Given the description of an element on the screen output the (x, y) to click on. 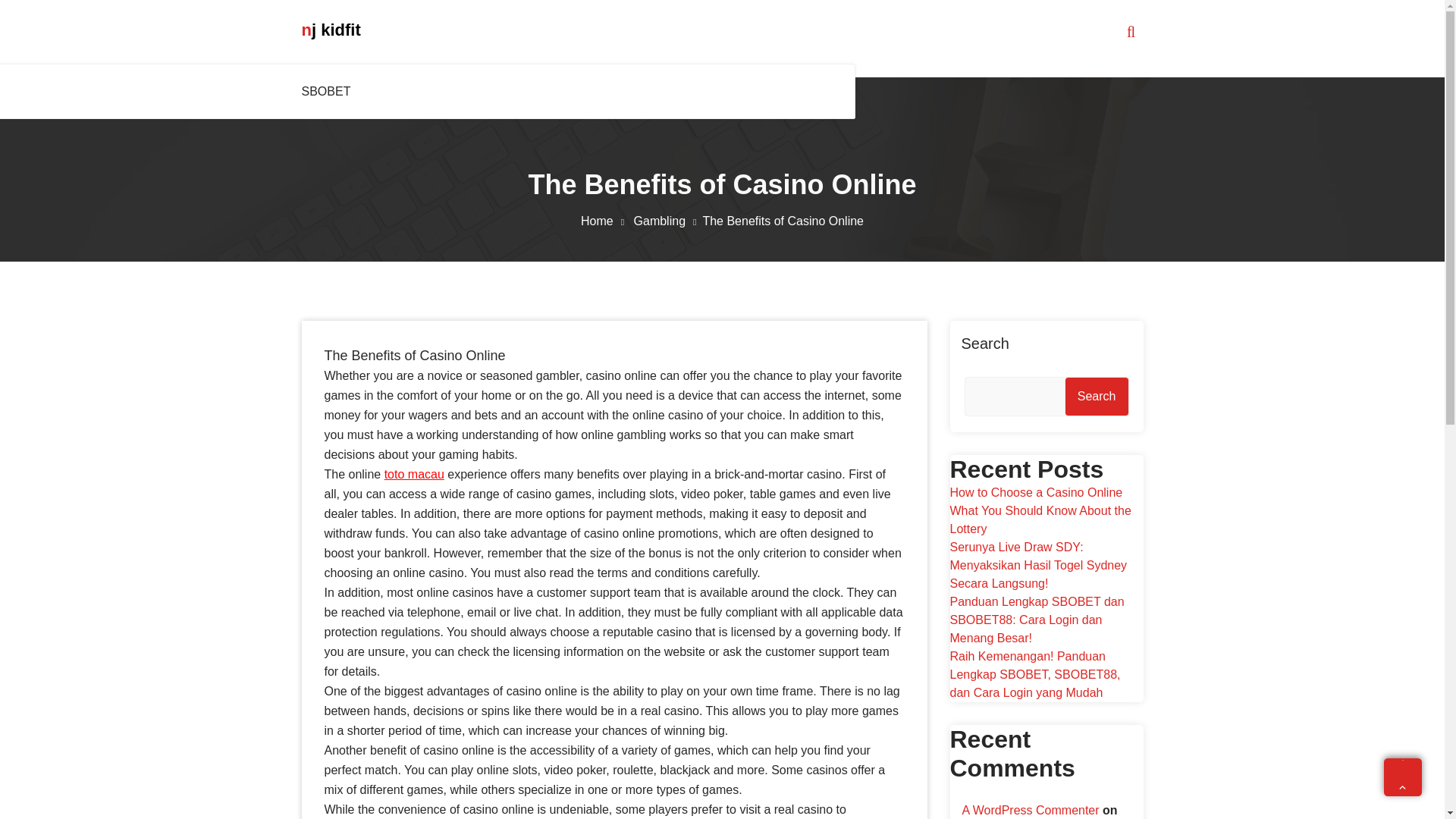
SBOBET (329, 91)
Search (1096, 396)
A WordPress Commenter (1029, 809)
What You Should Know About the Lottery (1040, 519)
Gambling (668, 220)
How to Choose a Casino Online (1035, 492)
SBOBET (329, 91)
nj kidfit (331, 30)
